Given the description of an element on the screen output the (x, y) to click on. 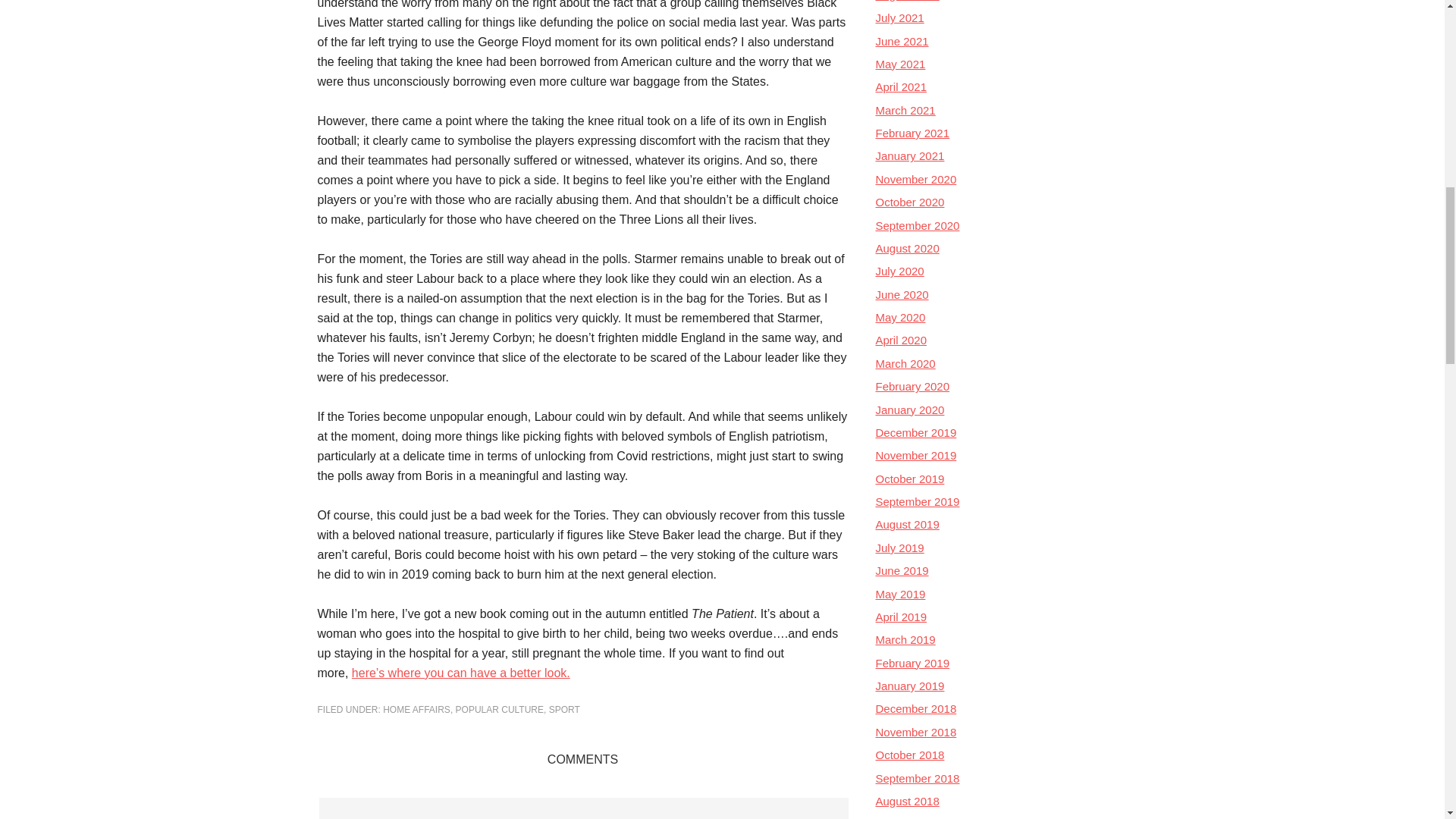
April 2021 (900, 86)
July 2021 (899, 17)
March 2021 (904, 110)
HOME AFFAIRS (415, 709)
August 2021 (907, 0)
POPULAR CULTURE (499, 709)
June 2021 (901, 41)
May 2021 (899, 63)
SPORT (563, 709)
